Given the description of an element on the screen output the (x, y) to click on. 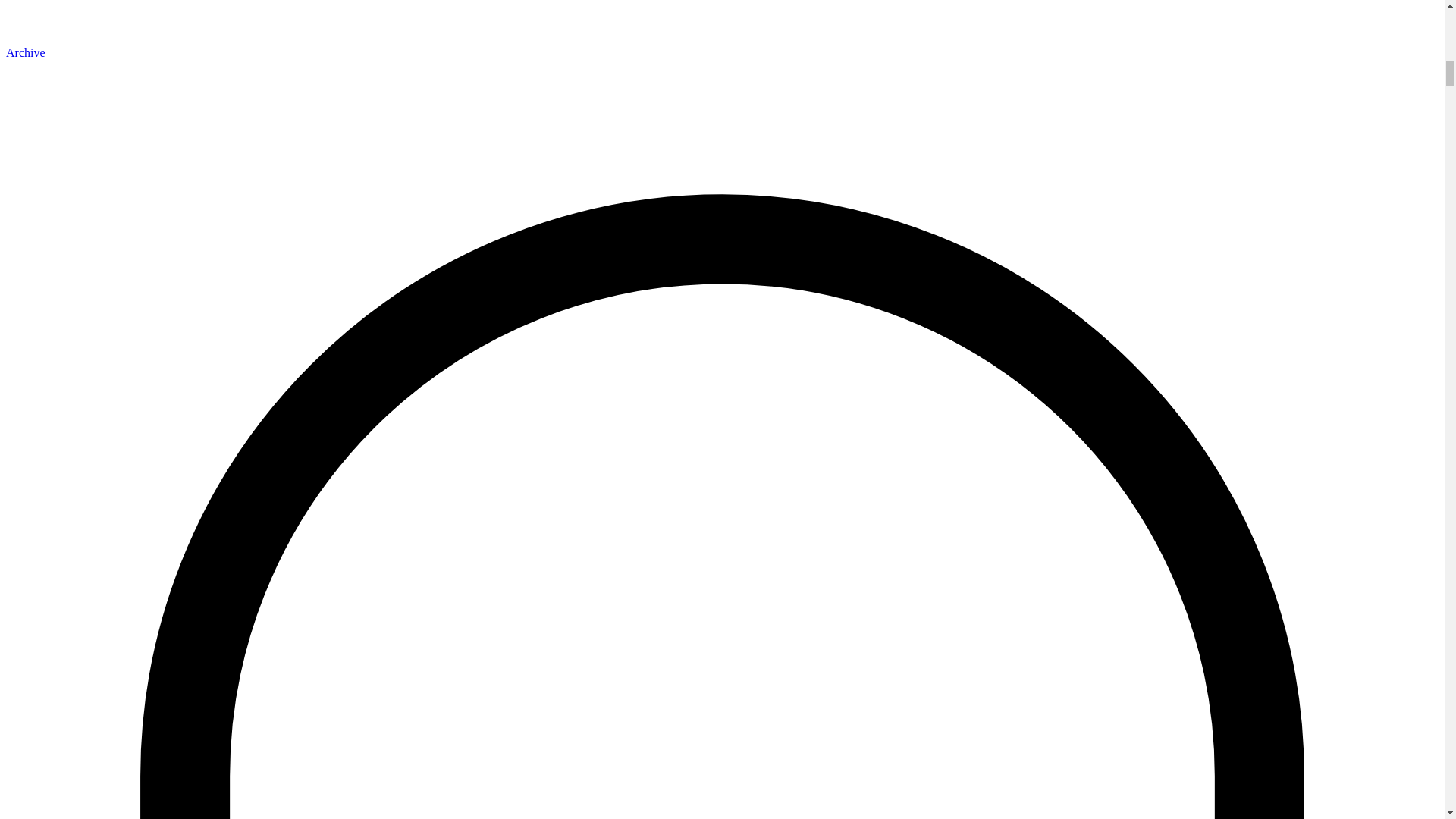
Archive (25, 51)
